Given the description of an element on the screen output the (x, y) to click on. 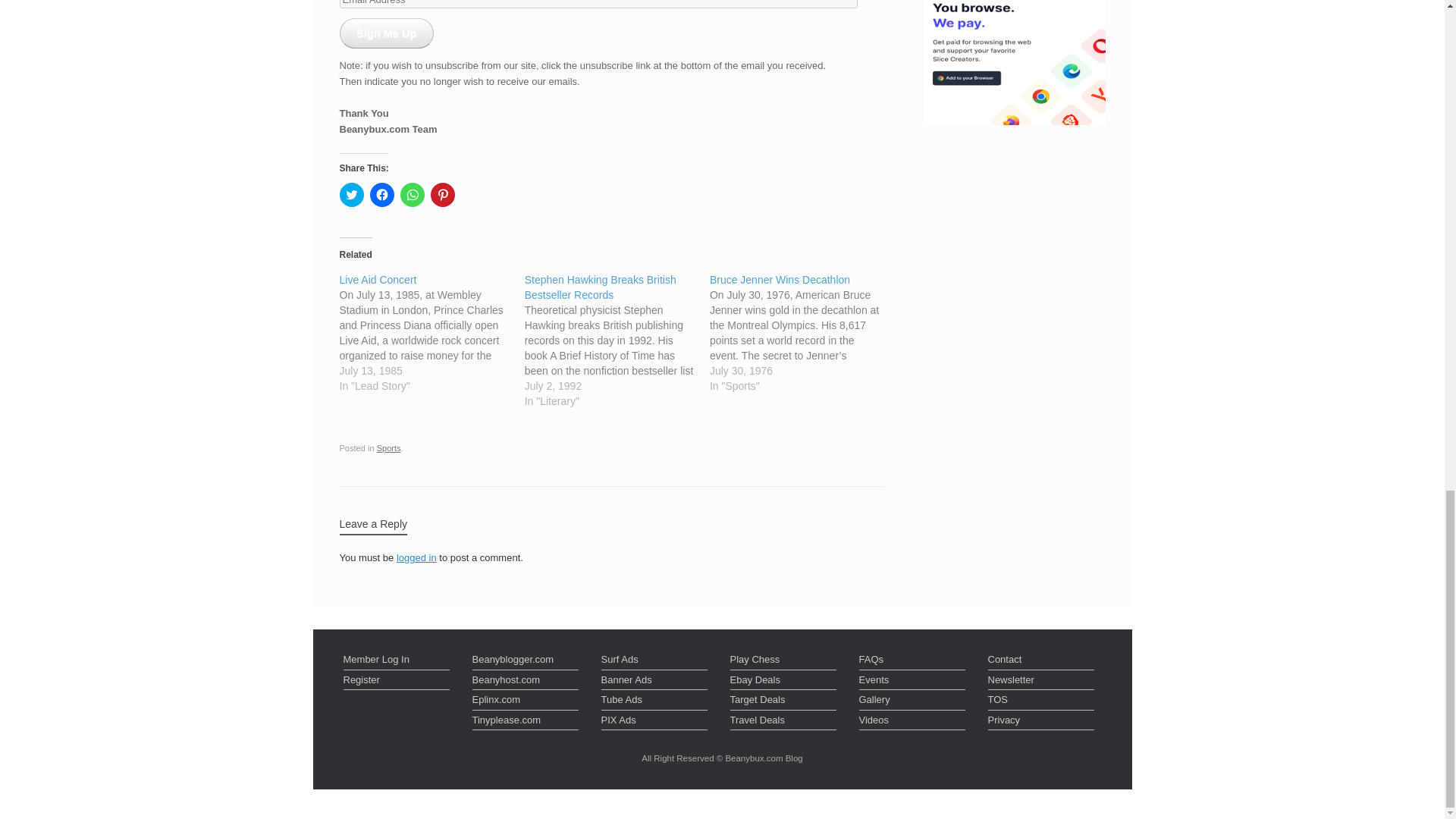
Click to share on Pinterest (442, 194)
Stephen Hawking Breaks British Bestseller Records (600, 287)
Sign Me Up (386, 33)
Click to share on WhatsApp (412, 194)
Click to share on Facebook (381, 194)
Live Aid Concert (431, 332)
Stephen Hawking Breaks British Bestseller Records (617, 339)
Live Aid Concert (377, 279)
Bruce Jenner Wins Decathlon (802, 332)
Click to share on Twitter (351, 194)
